Given the description of an element on the screen output the (x, y) to click on. 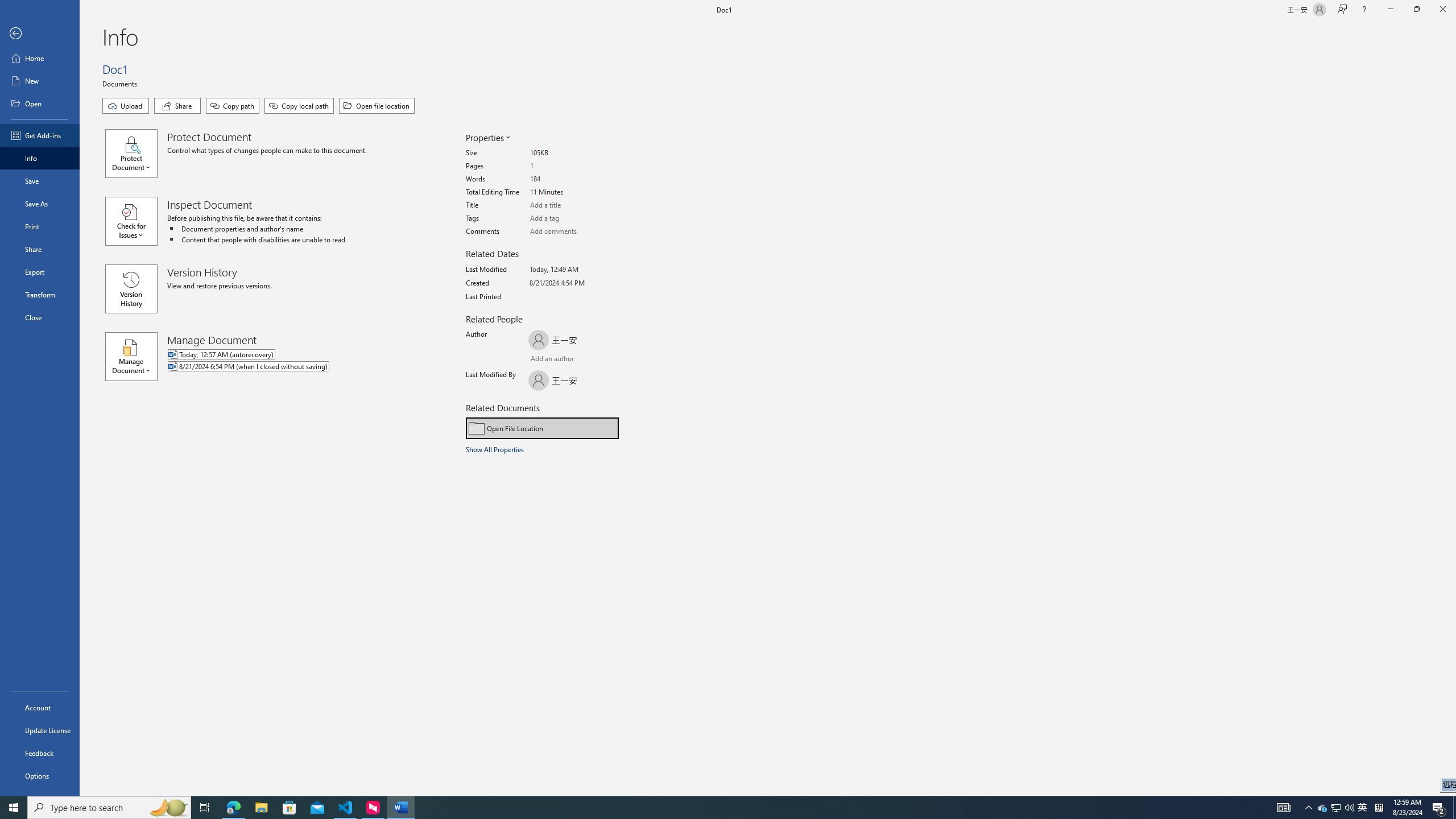
Update License (40, 730)
Total Editing Time (572, 192)
Transform (40, 294)
Open file location (376, 105)
Version History (130, 288)
Add an author (540, 359)
Tags (572, 218)
New (40, 80)
Info (40, 157)
Back (40, 33)
